Given the description of an element on the screen output the (x, y) to click on. 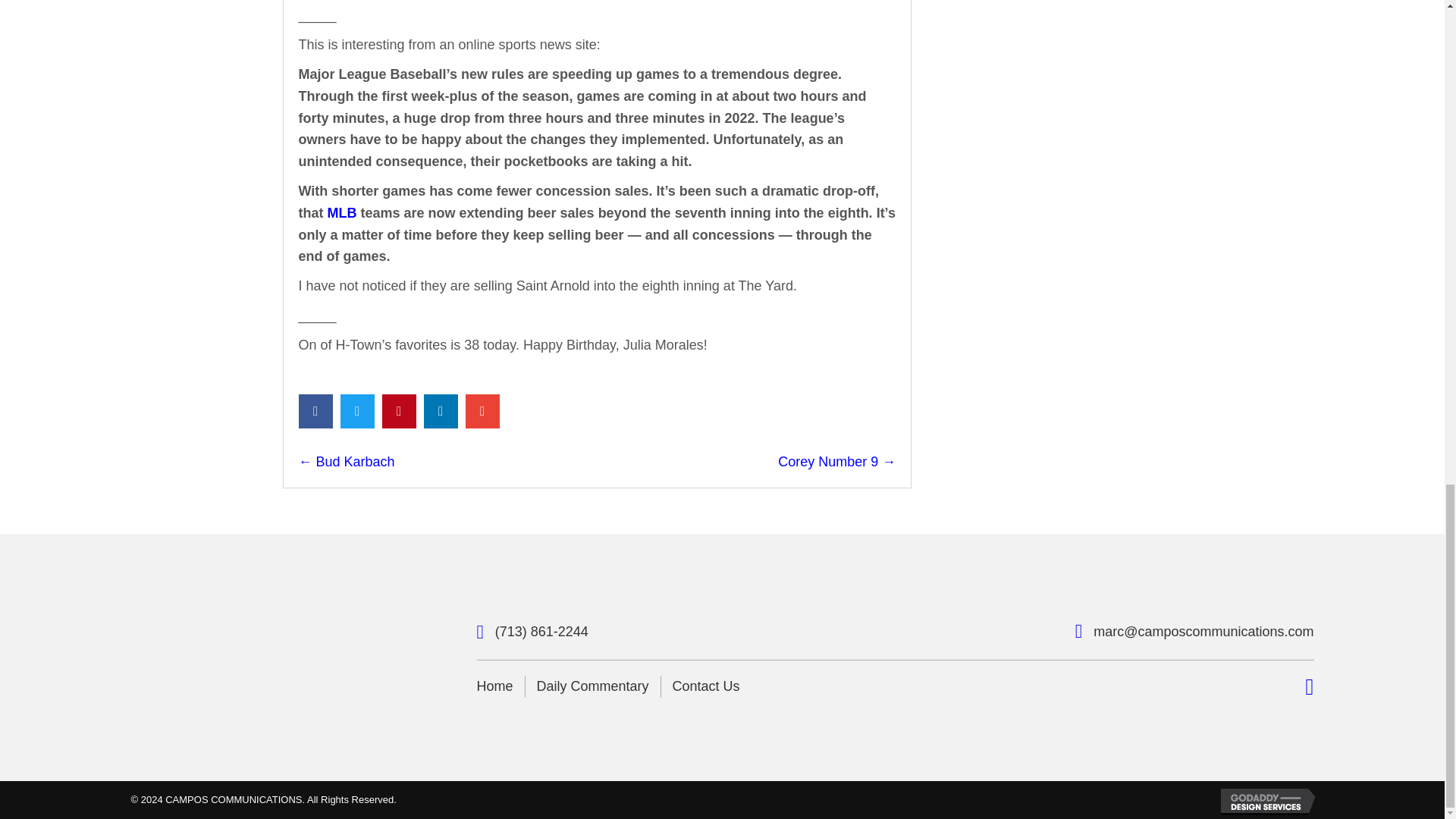
skyline9 (254, 657)
MLB (341, 212)
Home (494, 686)
